Given the description of an element on the screen output the (x, y) to click on. 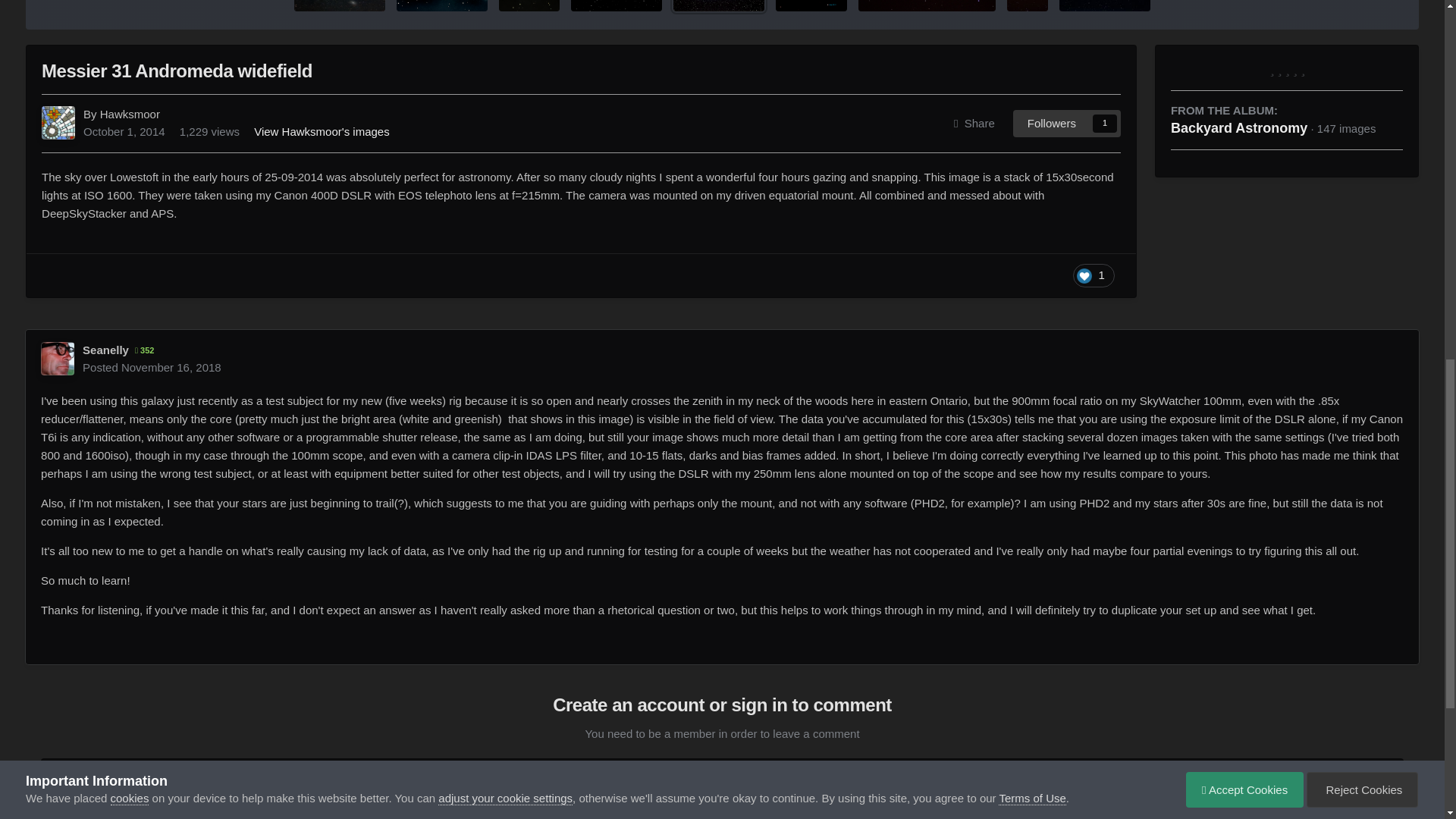
View the image Running Man Fin (441, 5)
View the image Messier 35 (1104, 5)
View the image The Great Orion Nebula (529, 5)
View the image Andromeda Galaxy Lightwave 66 Neilspikes (339, 5)
View the image Supernova SN 2014J In M82 (1027, 5)
Go to Hawksmoor's profile (58, 122)
View the image Messier 31 Andromeda widefield (718, 5)
View the image Supernova SN 2014J anno (811, 5)
View the image M15 (616, 5)
Go to Hawksmoor's profile (130, 113)
